Given the description of an element on the screen output the (x, y) to click on. 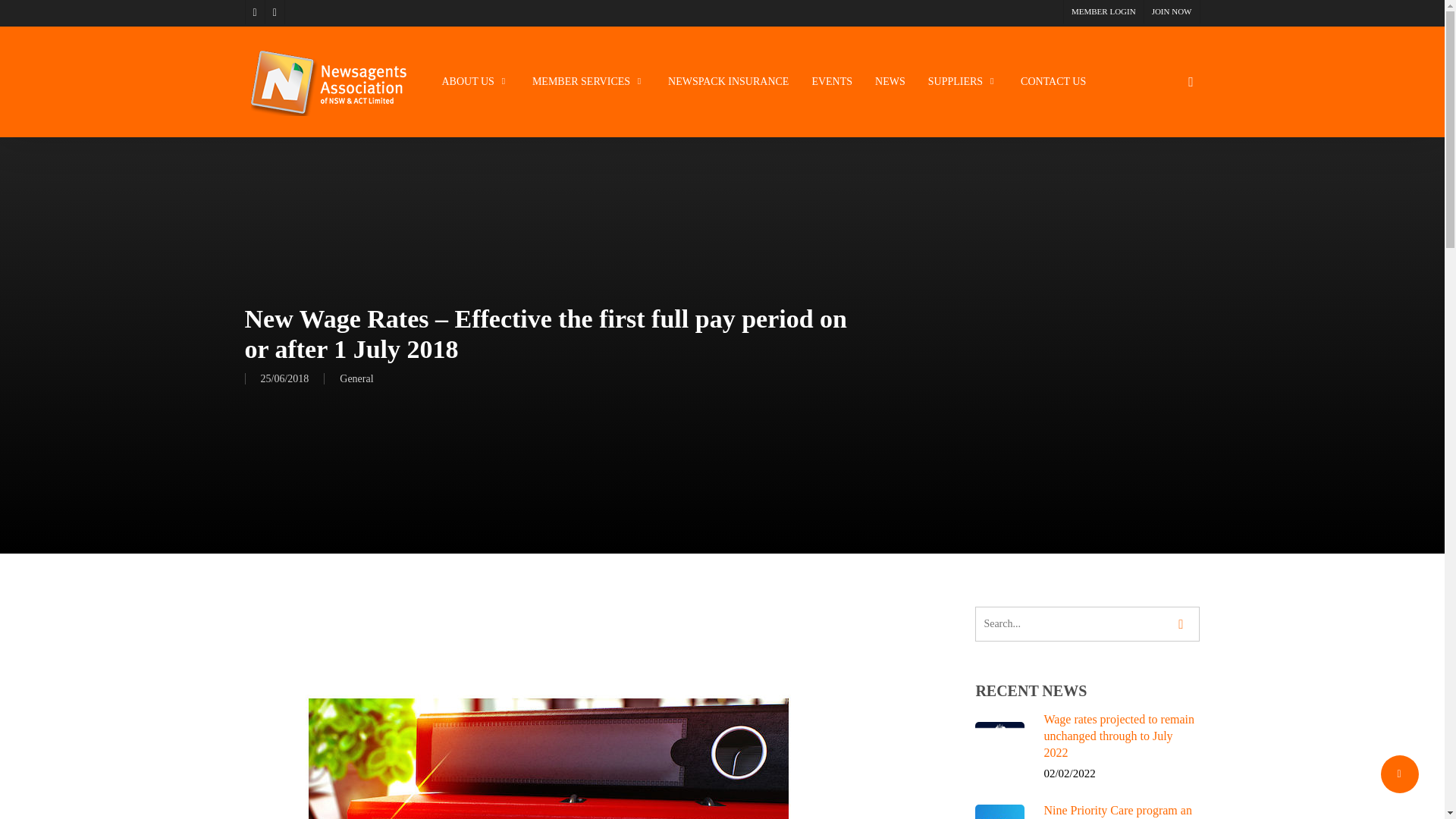
MEMBER LOGIN (1102, 11)
Search for: (1087, 623)
MEMBER SERVICES (588, 81)
ABOUT US (474, 81)
JOIN NOW (1170, 11)
